Given the description of an element on the screen output the (x, y) to click on. 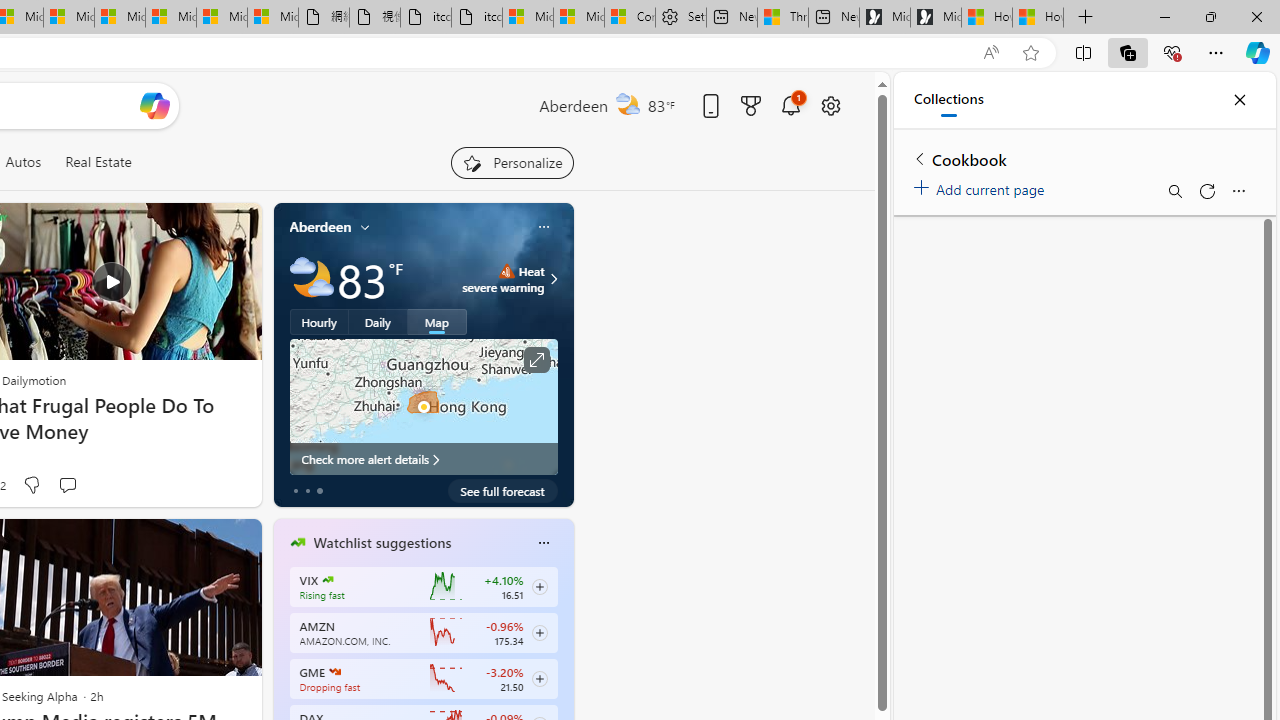
Heat - Severe (505, 270)
Larger map  (423, 407)
How to Use a TV as a Computer Monitor (1037, 17)
Heat - Severe Heat severe warning (503, 278)
Map (437, 321)
Class: weather-arrow-glyph (554, 278)
